Given the description of an element on the screen output the (x, y) to click on. 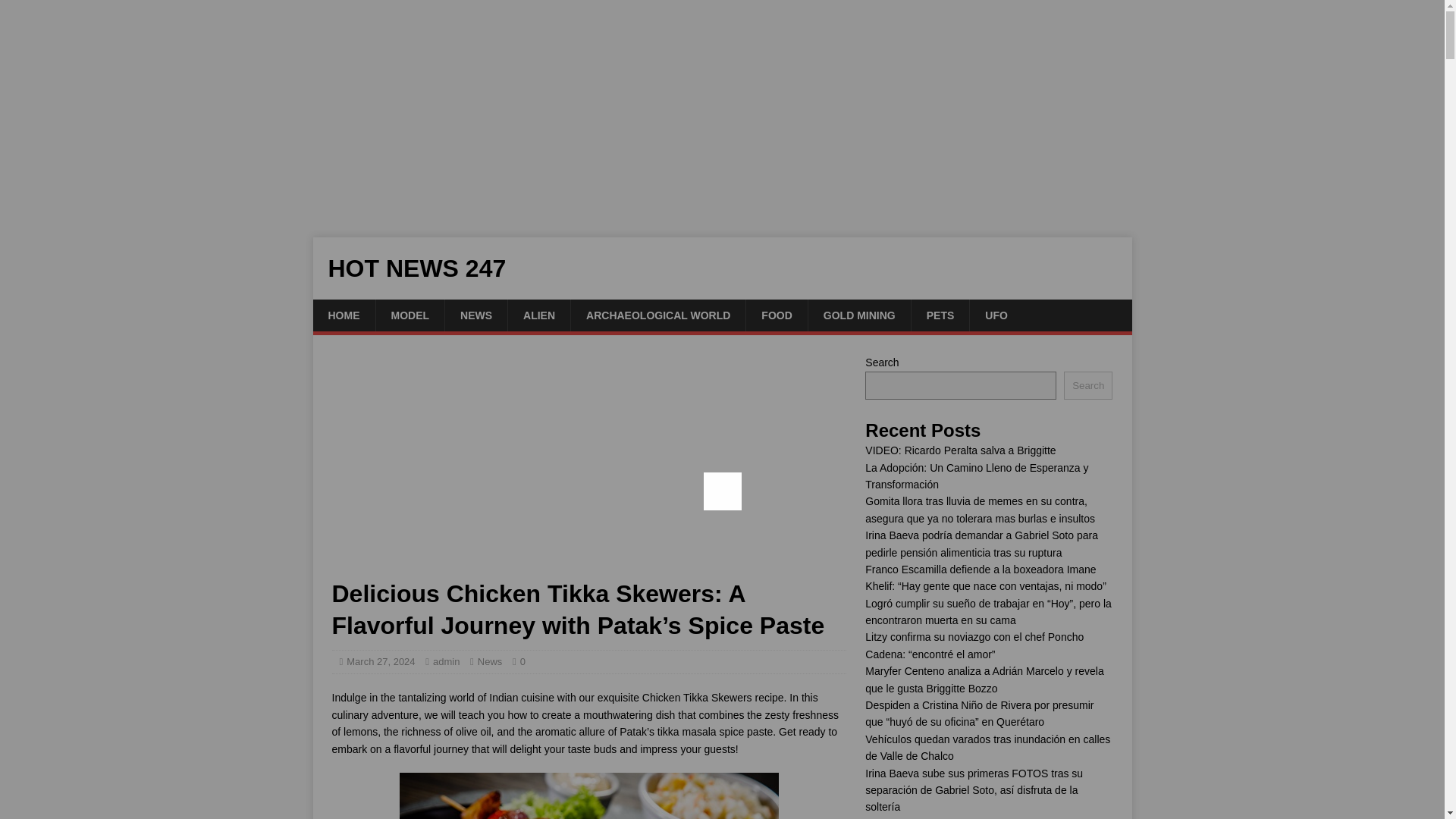
ALIEN (538, 315)
UFO (996, 315)
PETS (940, 315)
Hot News 247 (721, 268)
Search (1088, 385)
MODEL (409, 315)
HOME (343, 315)
ARCHAEOLOGICAL WORLD (657, 315)
admin (446, 661)
Advertisement (588, 466)
News (489, 661)
March 27, 2024 (380, 661)
GOLD MINING (859, 315)
NEWS (475, 315)
